Given the description of an element on the screen output the (x, y) to click on. 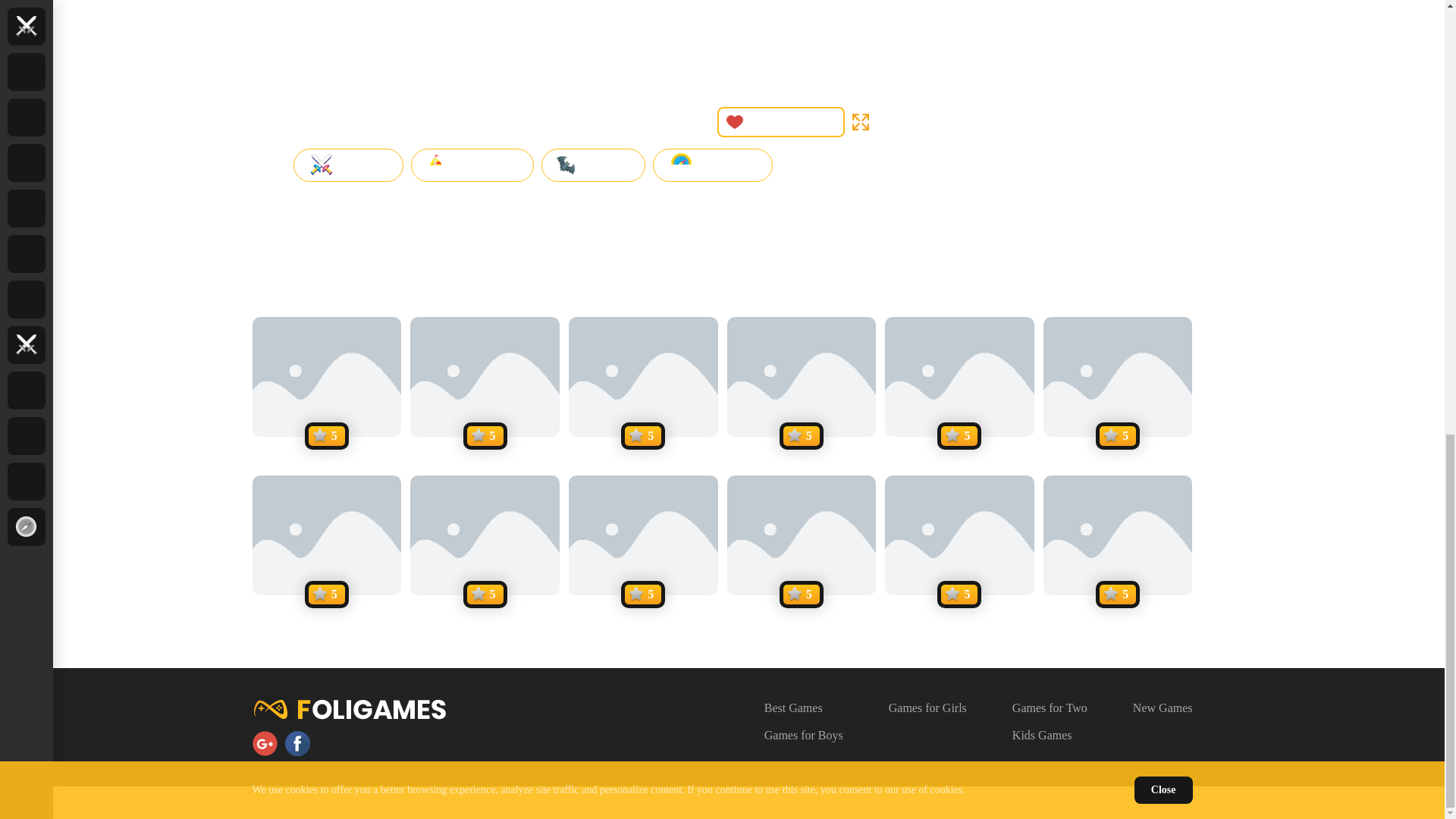
Action (347, 164)
Horror (593, 164)
Add to my games (780, 122)
Survival (712, 164)
Adventure (472, 164)
